Given the description of an element on the screen output the (x, y) to click on. 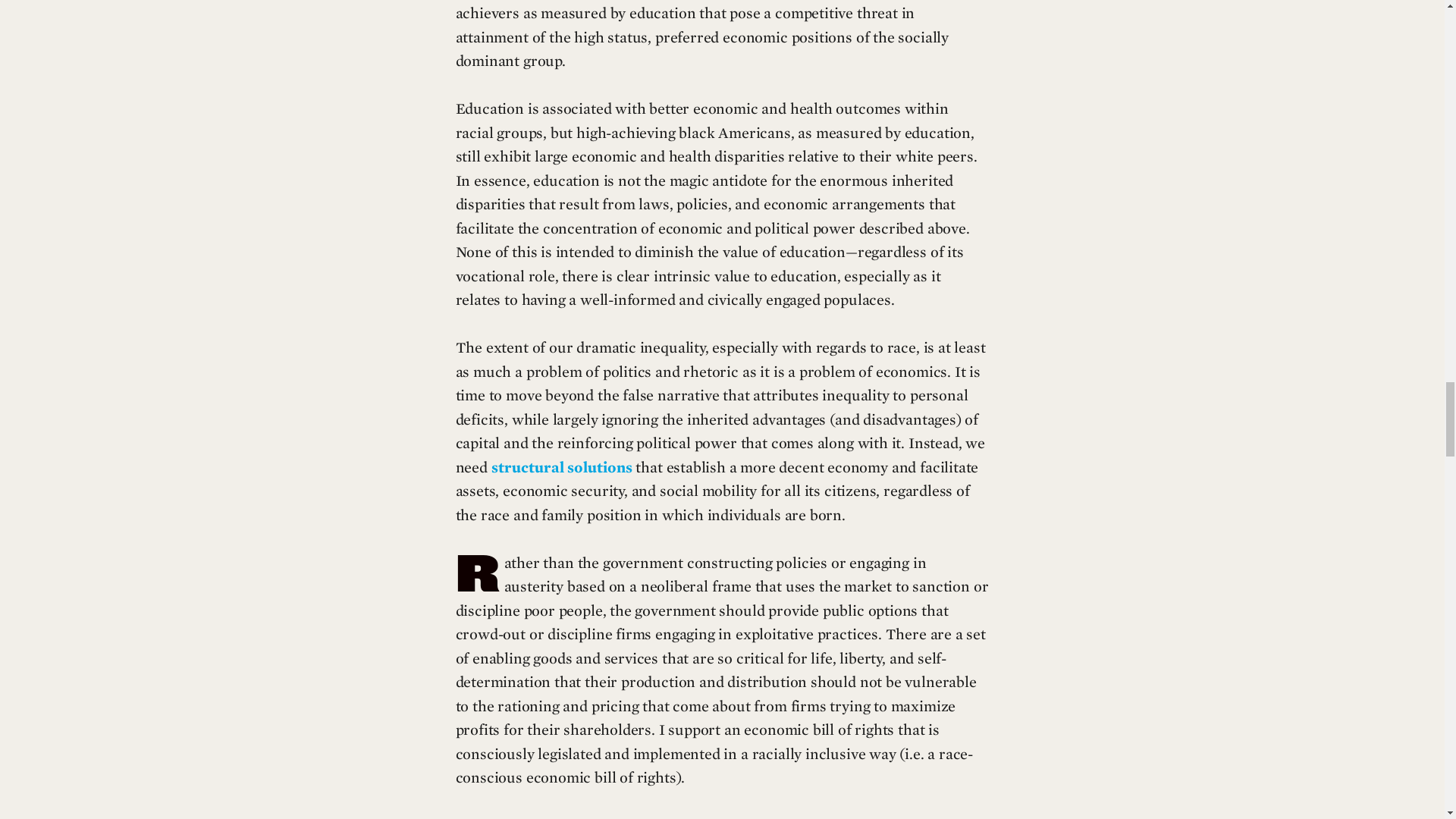
structural solutions (561, 468)
